Given the description of an element on the screen output the (x, y) to click on. 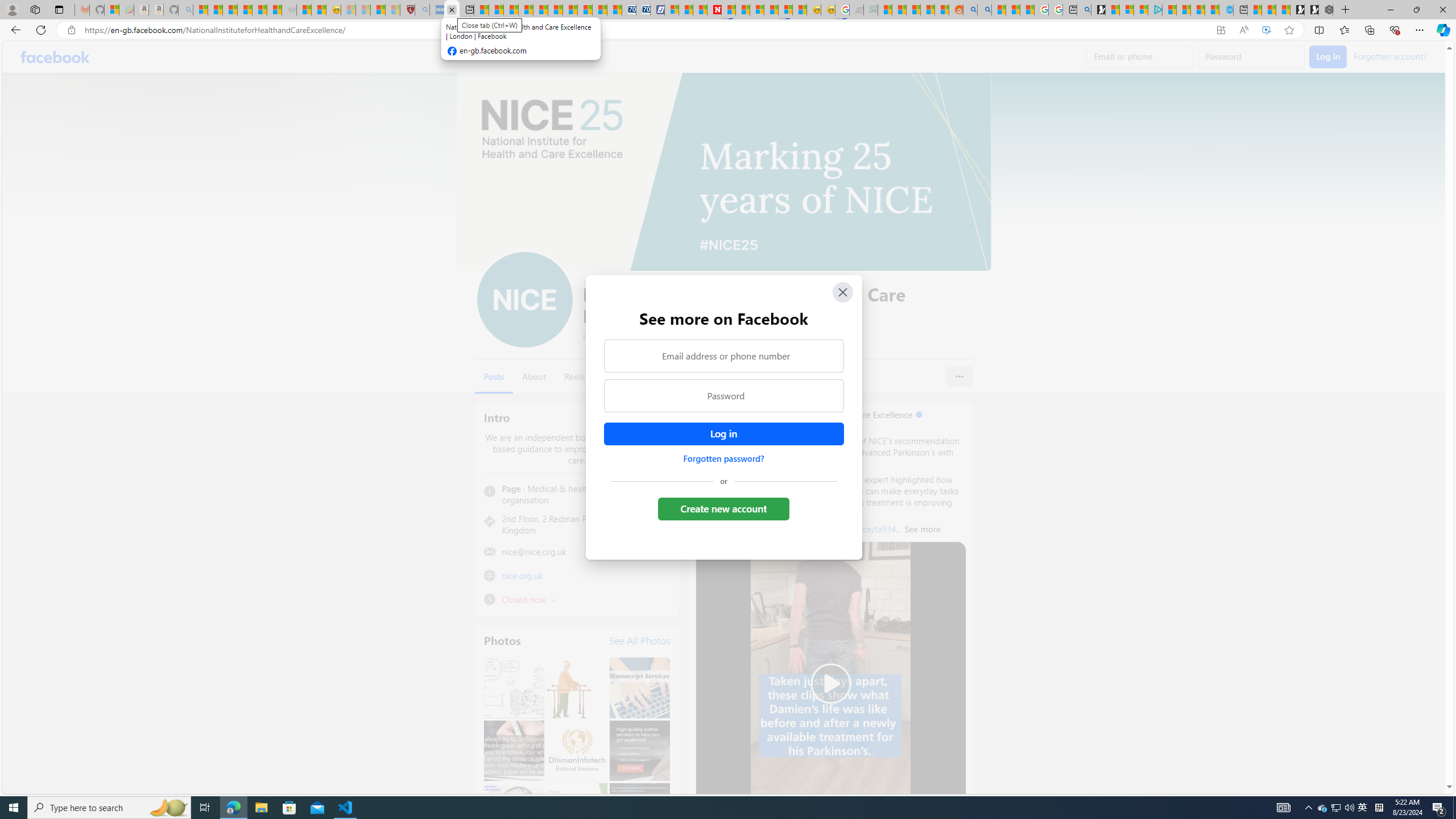
Play Free Online Games | Games from Microsoft Start (1311, 9)
Cheap Hotels - Save70.com (643, 9)
DITOGAMES AG Imprint - Sleeping (870, 9)
Recipes - MSN - Sleeping (348, 9)
Climate Damage Becomes Too Severe To Reverse (525, 9)
Combat Siege - Sleeping (288, 9)
Email address or phone number (723, 355)
The Weather Channel - MSN (229, 9)
Stocks - MSN (274, 9)
